Given the description of an element on the screen output the (x, y) to click on. 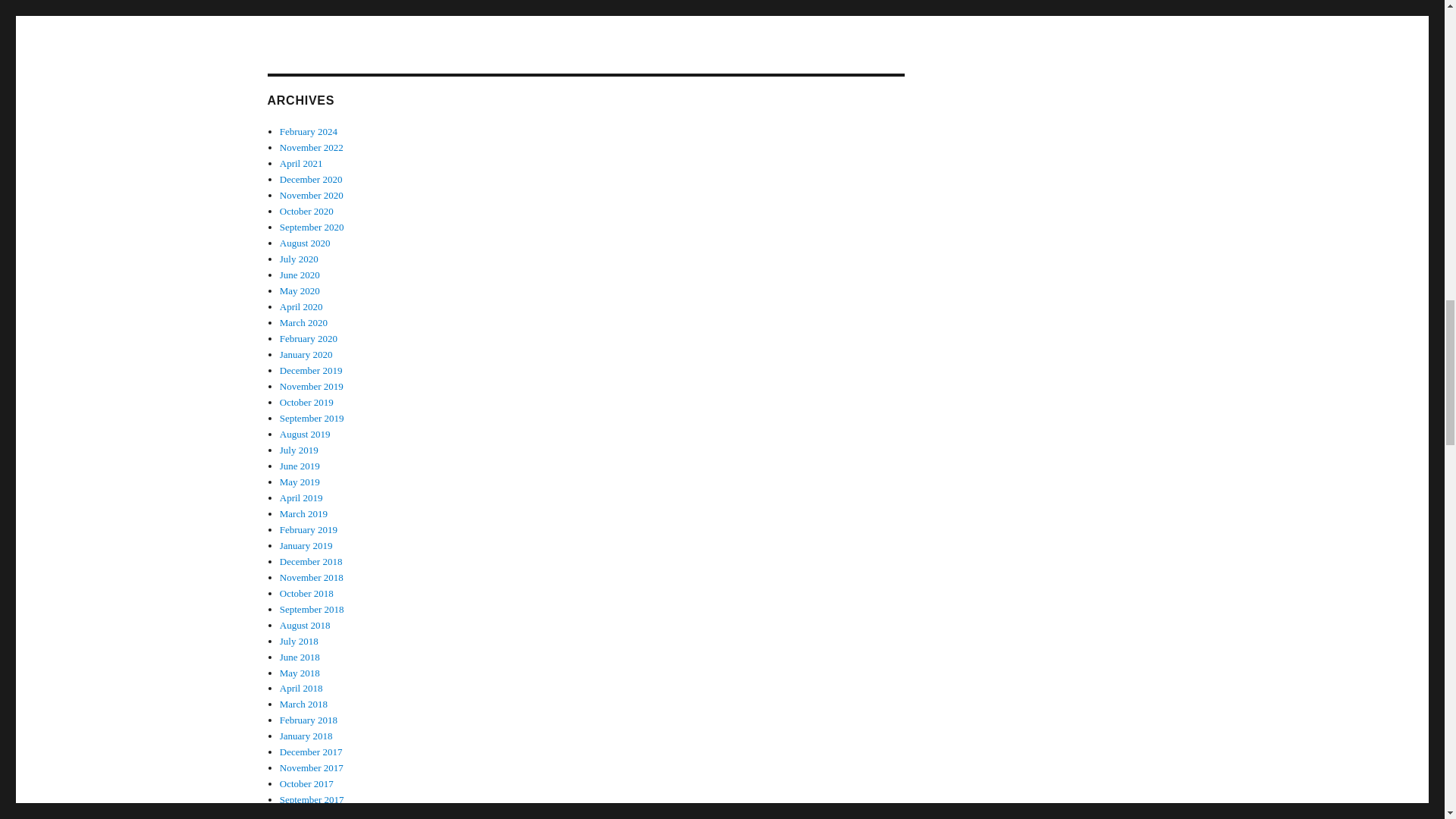
October 2020 (306, 211)
September 2019 (311, 418)
September 2020 (311, 226)
November 2022 (311, 147)
July 2020 (298, 258)
February 2020 (308, 337)
October 2019 (306, 401)
March 2020 (303, 322)
May 2020 (299, 290)
August 2020 (304, 242)
